Given the description of an element on the screen output the (x, y) to click on. 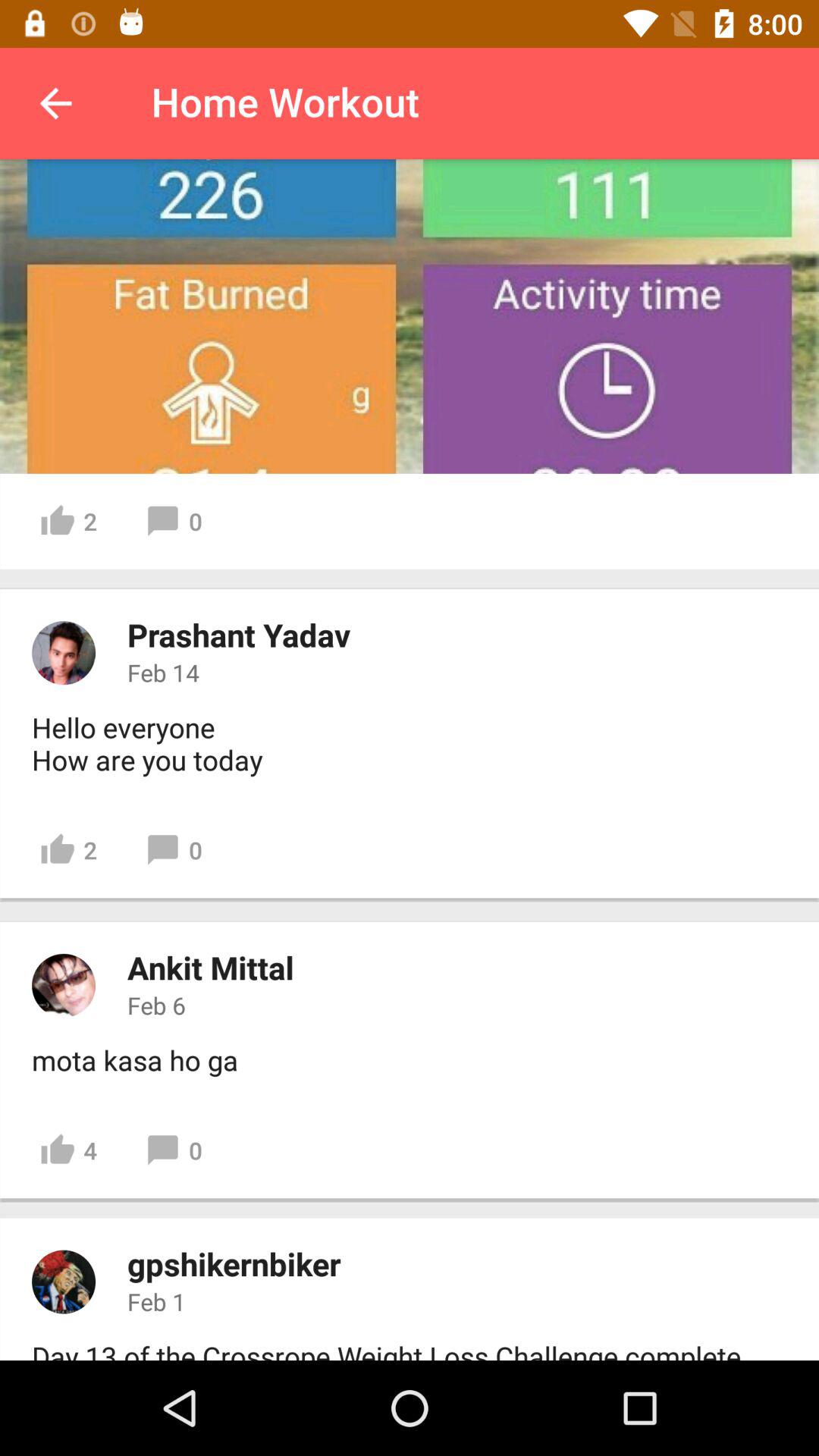
tap icon above 2 (146, 743)
